Given the description of an element on the screen output the (x, y) to click on. 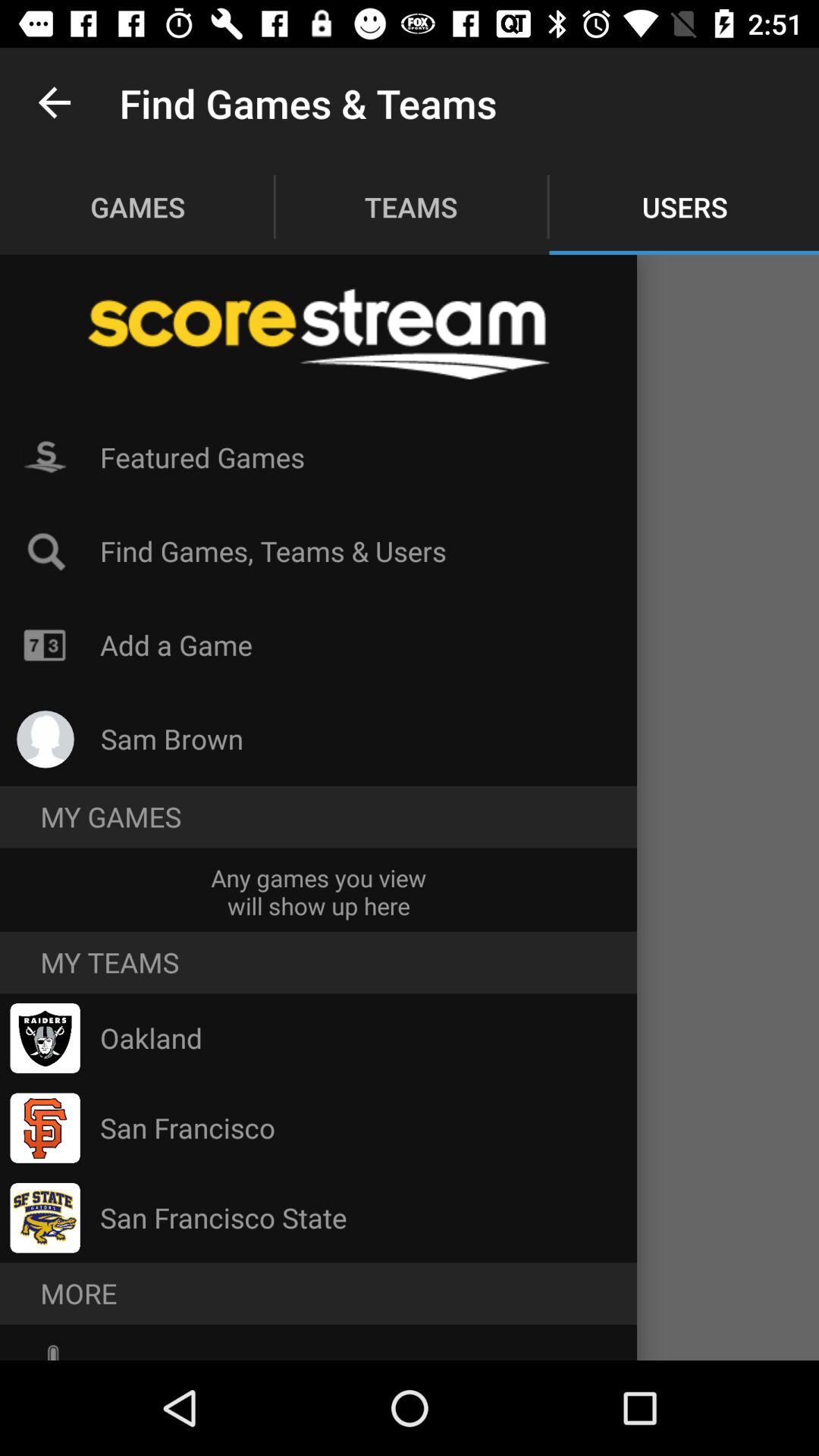
select games (137, 206)
go to teams next to games (411, 206)
click on option beside find (45, 550)
